Given the description of an element on the screen output the (x, y) to click on. 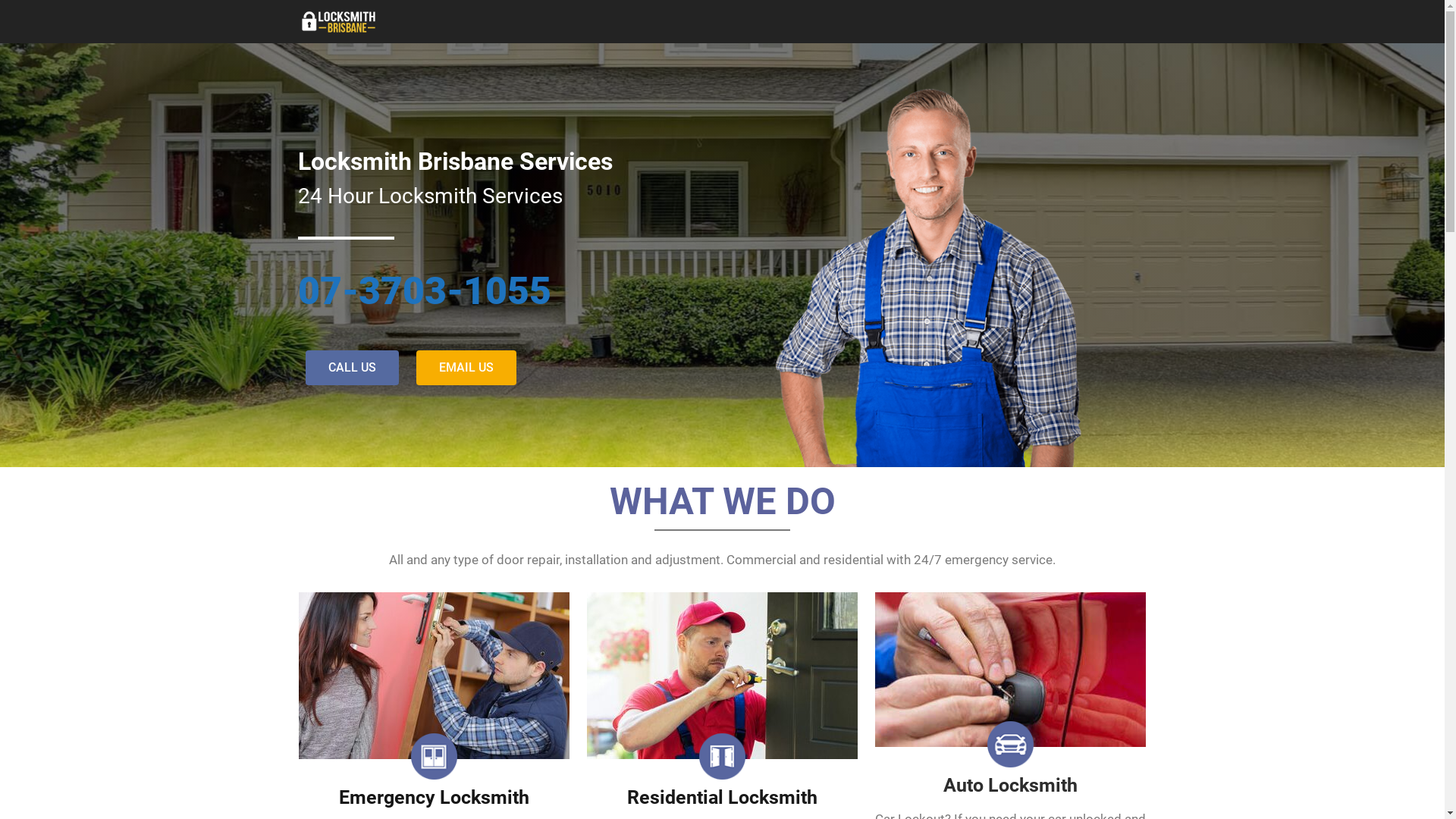
CALL US Element type: text (351, 367)
EMAIL US Element type: text (466, 367)
07-3703-1055 Element type: text (423, 291)
